Given the description of an element on the screen output the (x, y) to click on. 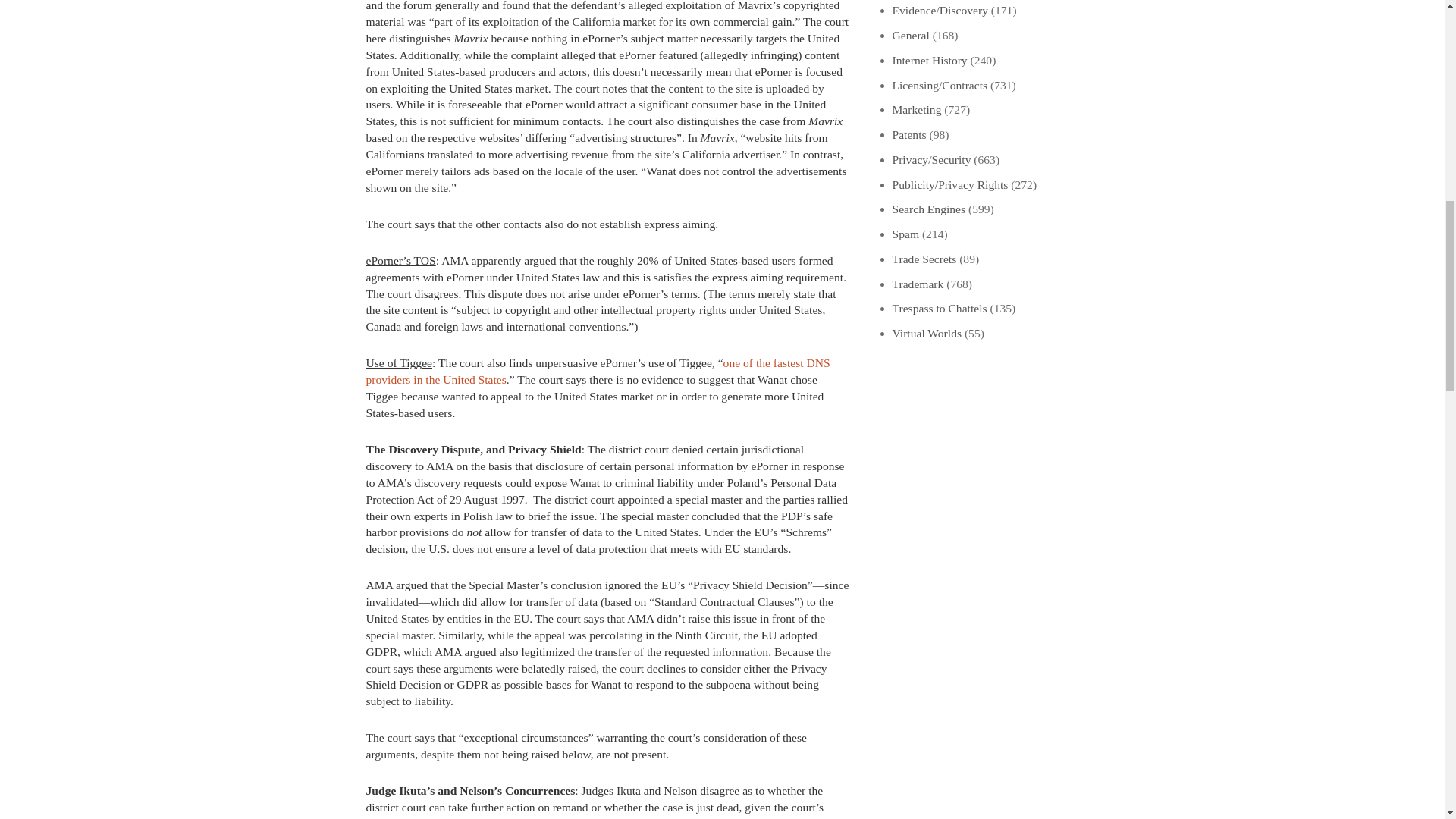
one of the fastest DNS providers in the United States (597, 370)
